Given the description of an element on the screen output the (x, y) to click on. 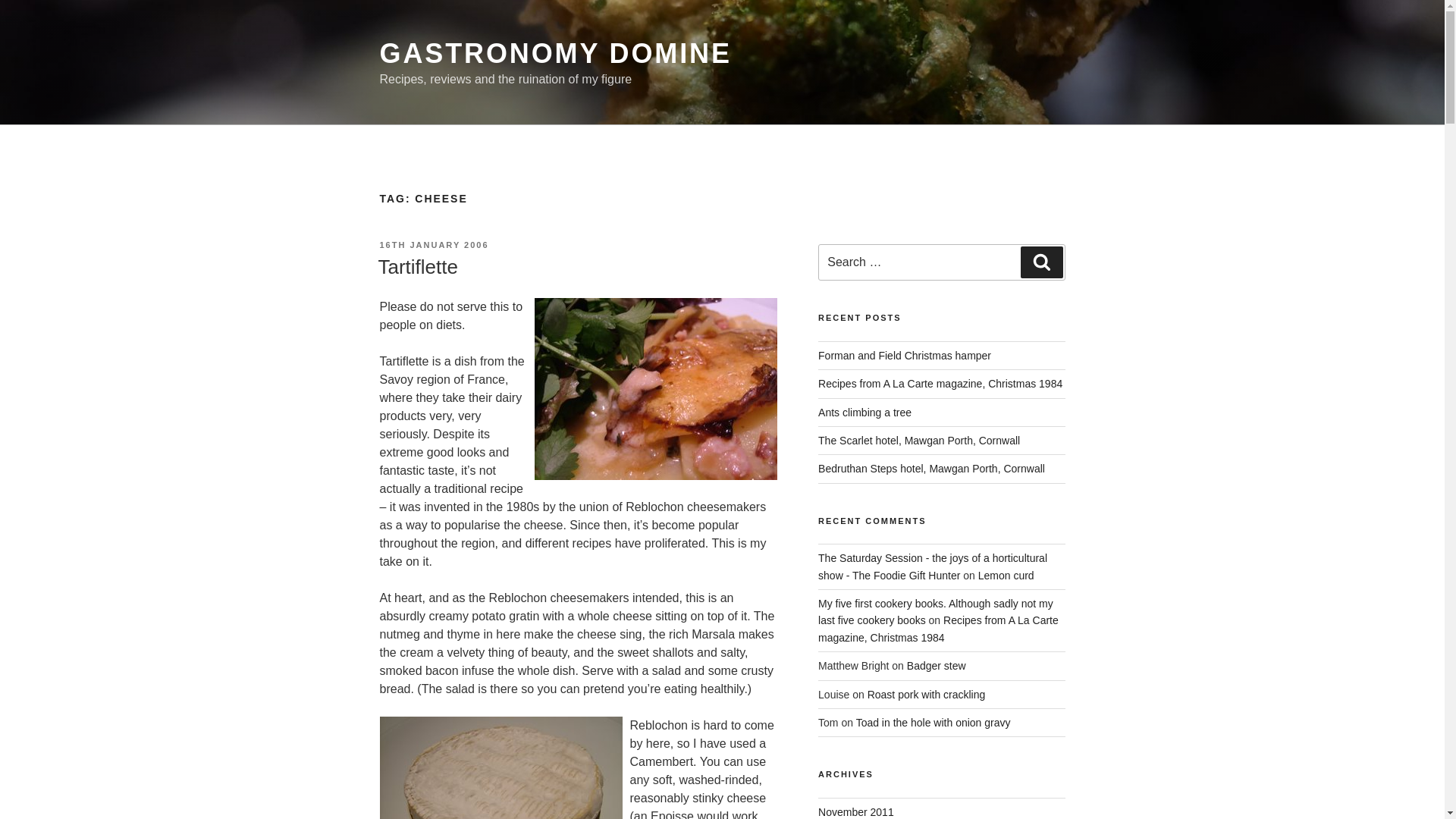
Search (1041, 262)
Forman and Field Christmas hamper (904, 355)
Badger stew (936, 665)
Tartiflette (417, 266)
The Scarlet hotel, Mawgan Porth, Cornwall (919, 440)
GASTRONOMY DOMINE (554, 52)
Recipes from A La Carte magazine, Christmas 1984 (938, 628)
Recipes from A La Carte magazine, Christmas 1984 (940, 383)
Lemon curd (1005, 575)
Roast pork with crackling (926, 694)
November 2011 (855, 811)
Bedruthan Steps hotel, Mawgan Porth, Cornwall (931, 468)
Toad in the hole with onion gravy (933, 722)
